Given the description of an element on the screen output the (x, y) to click on. 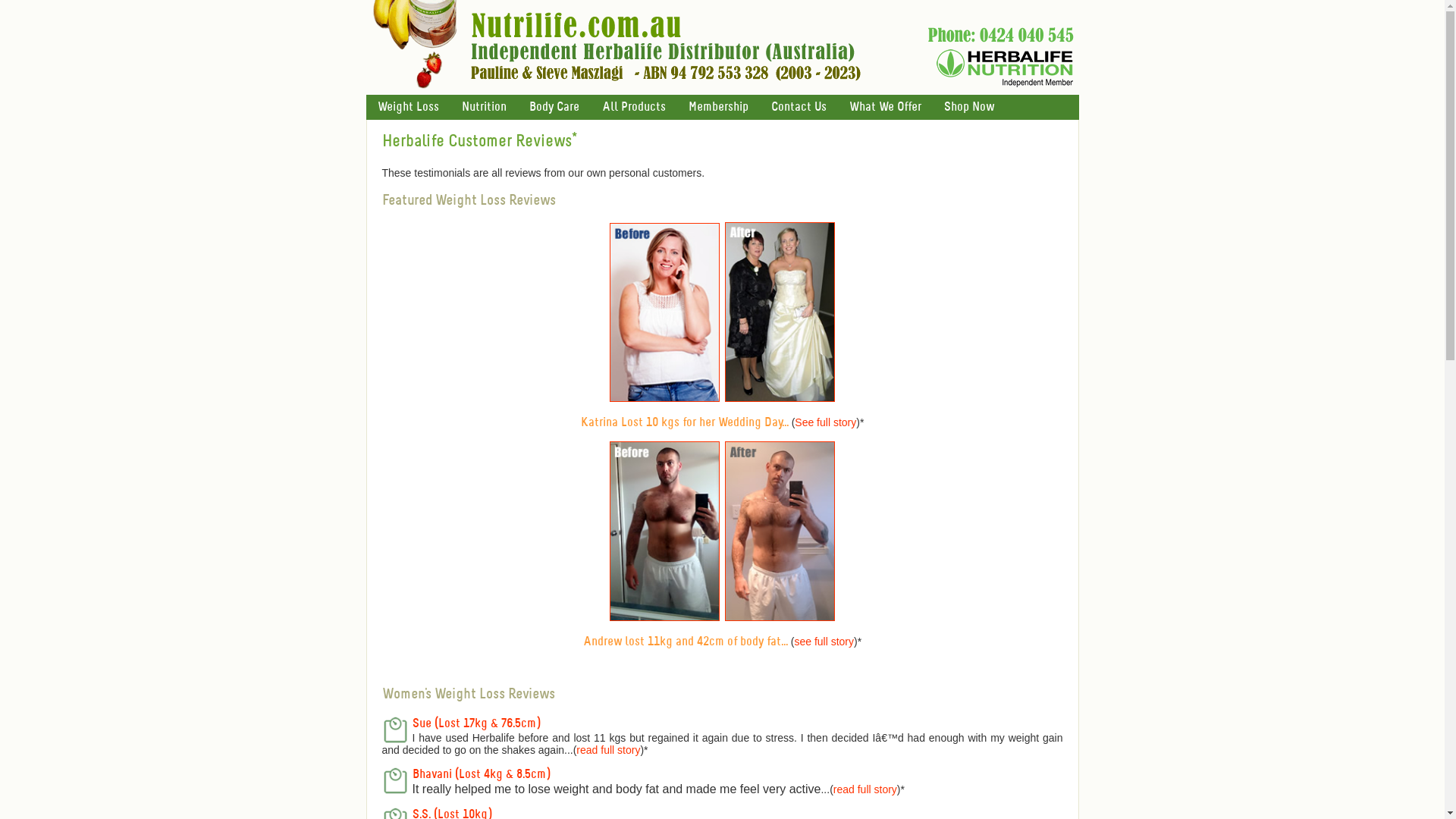
read full story Element type: text (865, 789)
Body Care Element type: text (553, 106)
Nutrition Element type: text (483, 106)
see full story Element type: text (823, 641)
Weight Loss Element type: text (407, 106)
Contact Us Element type: text (798, 106)
Sue (Lost 17kg & 76.5cm) Element type: text (476, 723)
Bhavani (Lost 4kg & 8.5cm) Element type: text (481, 774)
What We Offer Element type: text (884, 106)
Shop Now Element type: text (968, 106)
All Products Element type: text (632, 106)
Membership Element type: text (717, 106)
See full story Element type: text (825, 422)
read full story Element type: text (608, 749)
